Given the description of an element on the screen output the (x, y) to click on. 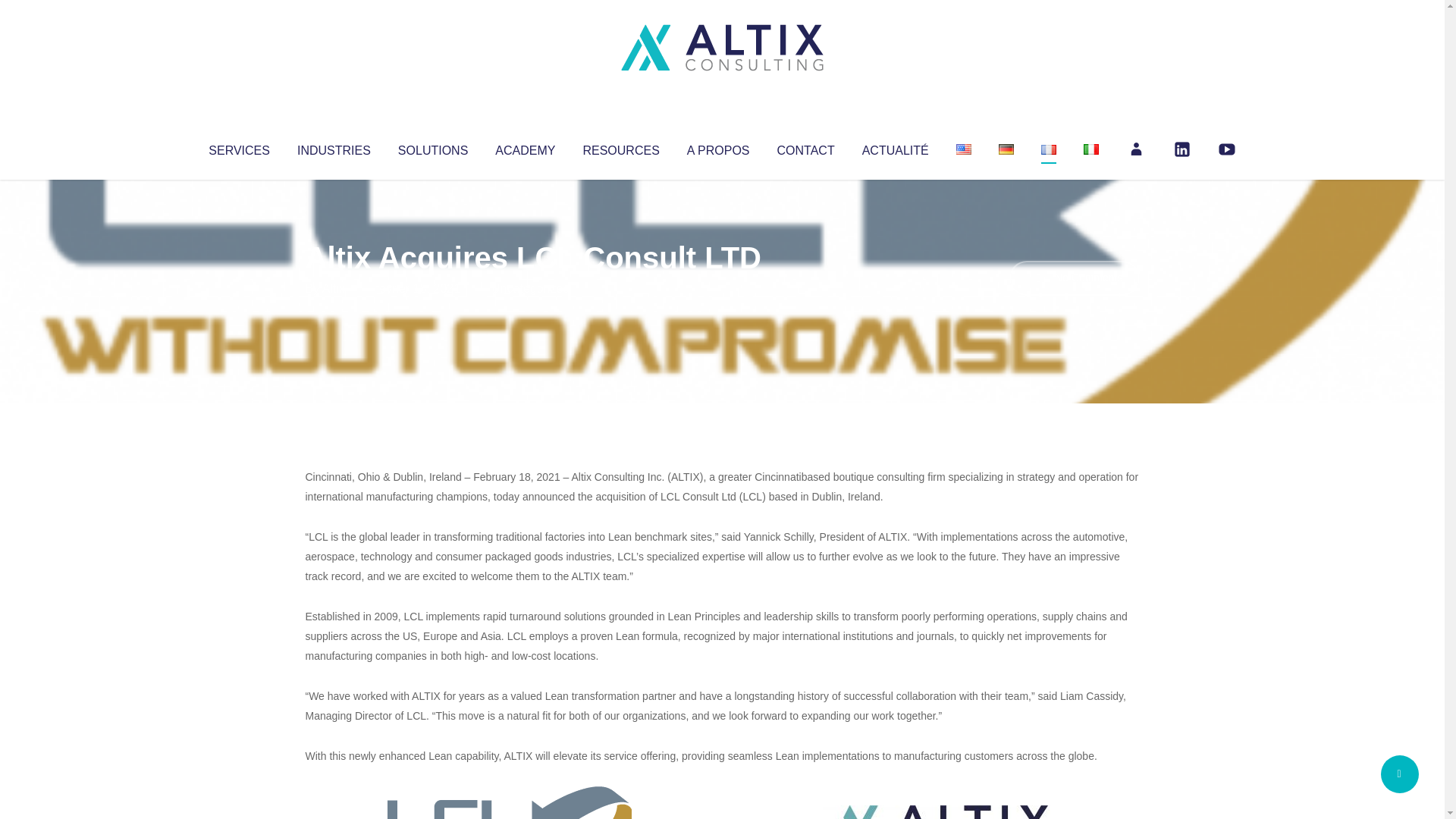
Altix (333, 287)
SOLUTIONS (432, 146)
ACADEMY (524, 146)
No Comments (1073, 278)
RESOURCES (620, 146)
SERVICES (238, 146)
Uncategorized (530, 287)
Articles par Altix (333, 287)
A PROPOS (718, 146)
INDUSTRIES (334, 146)
